Given the description of an element on the screen output the (x, y) to click on. 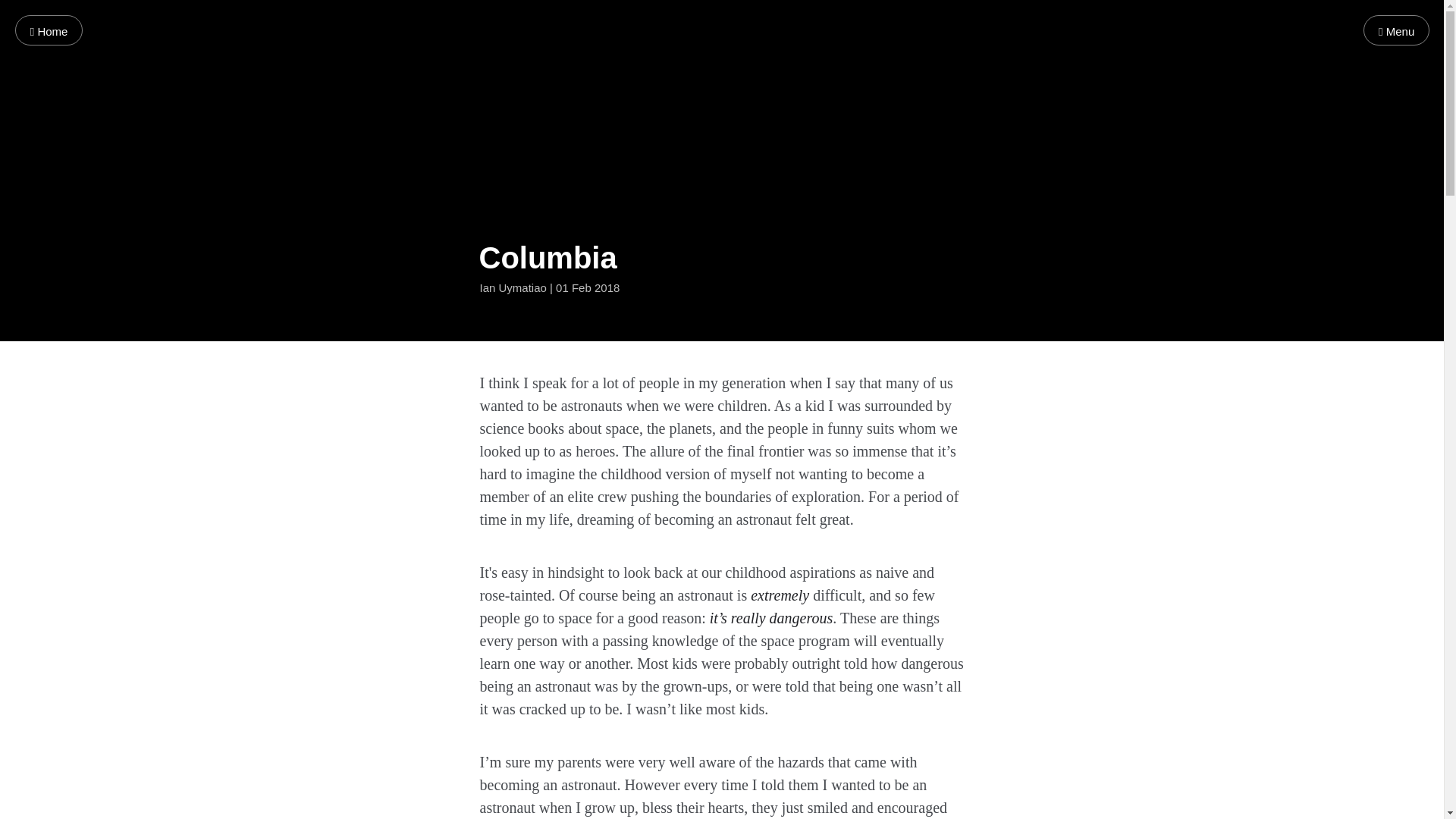
Home (48, 30)
Menu (1395, 30)
Home (48, 30)
Ian Uymatiao (512, 287)
